Given the description of an element on the screen output the (x, y) to click on. 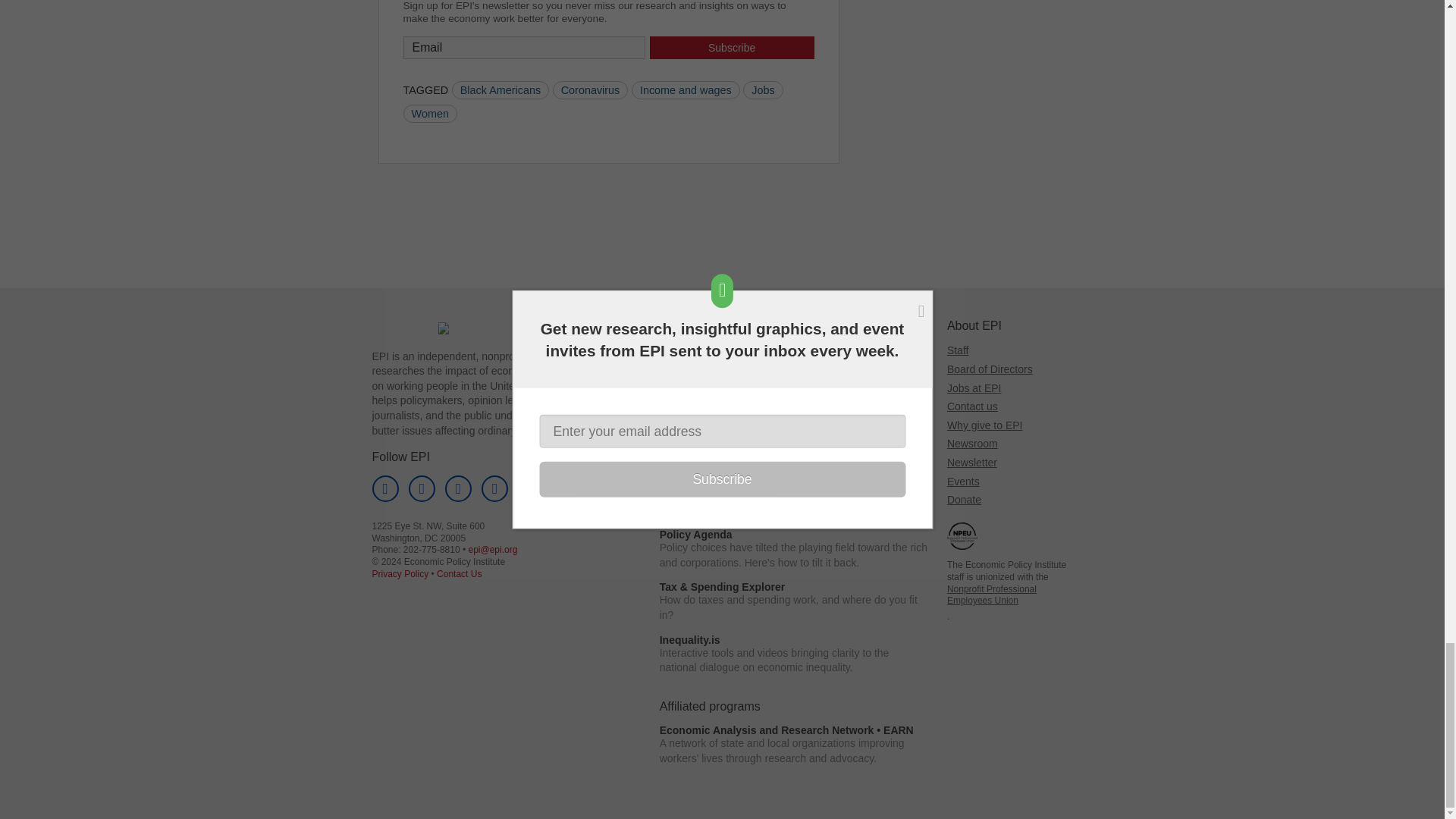
Subscribe (731, 47)
Email (524, 47)
